Given the description of an element on the screen output the (x, y) to click on. 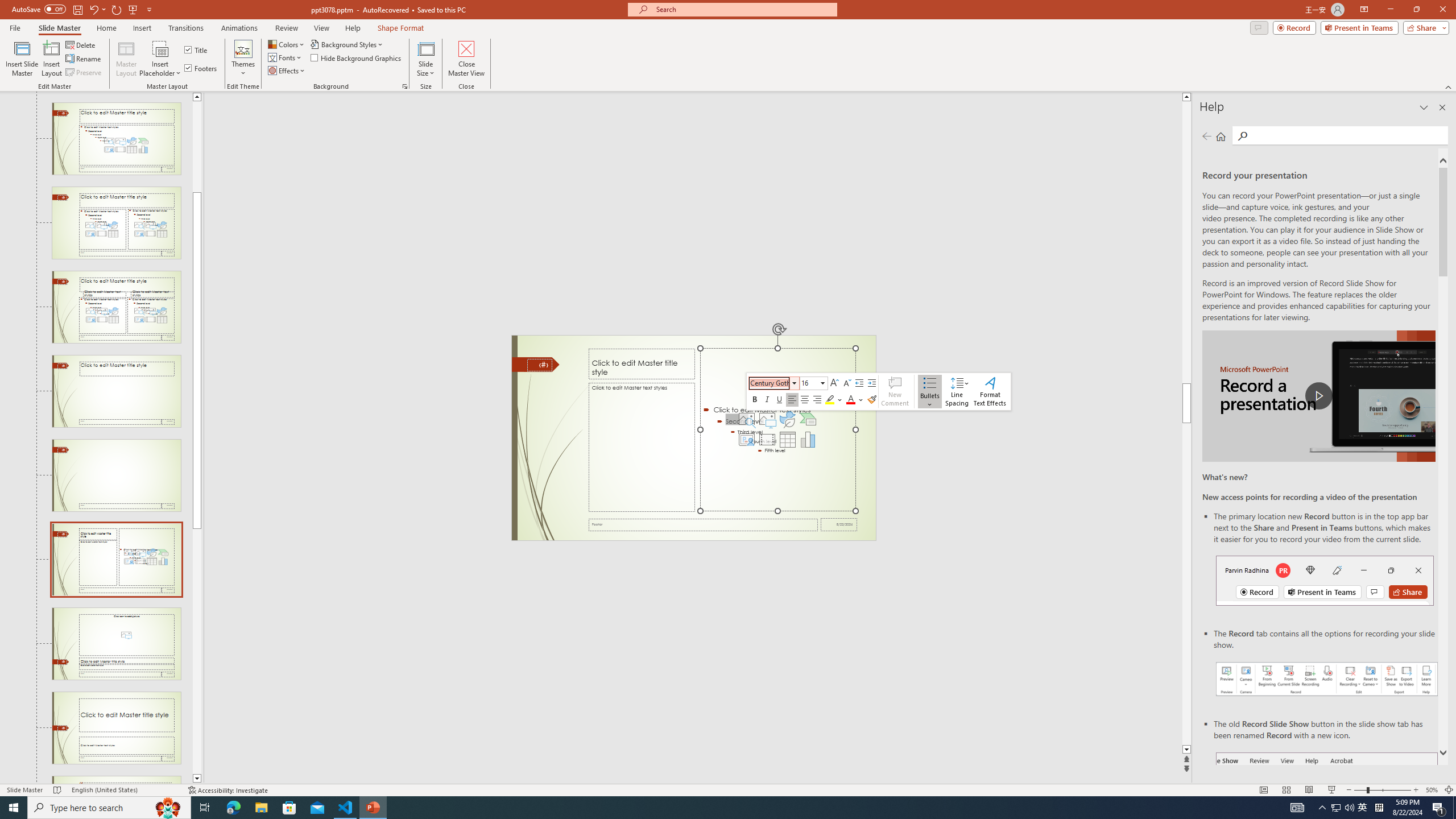
Freeform 11 (535, 364)
Record button in top bar (1324, 580)
Footers (201, 67)
Slide Number (539, 364)
Slide Picture with Caption Layout: used by no slides (116, 643)
